Given the description of an element on the screen output the (x, y) to click on. 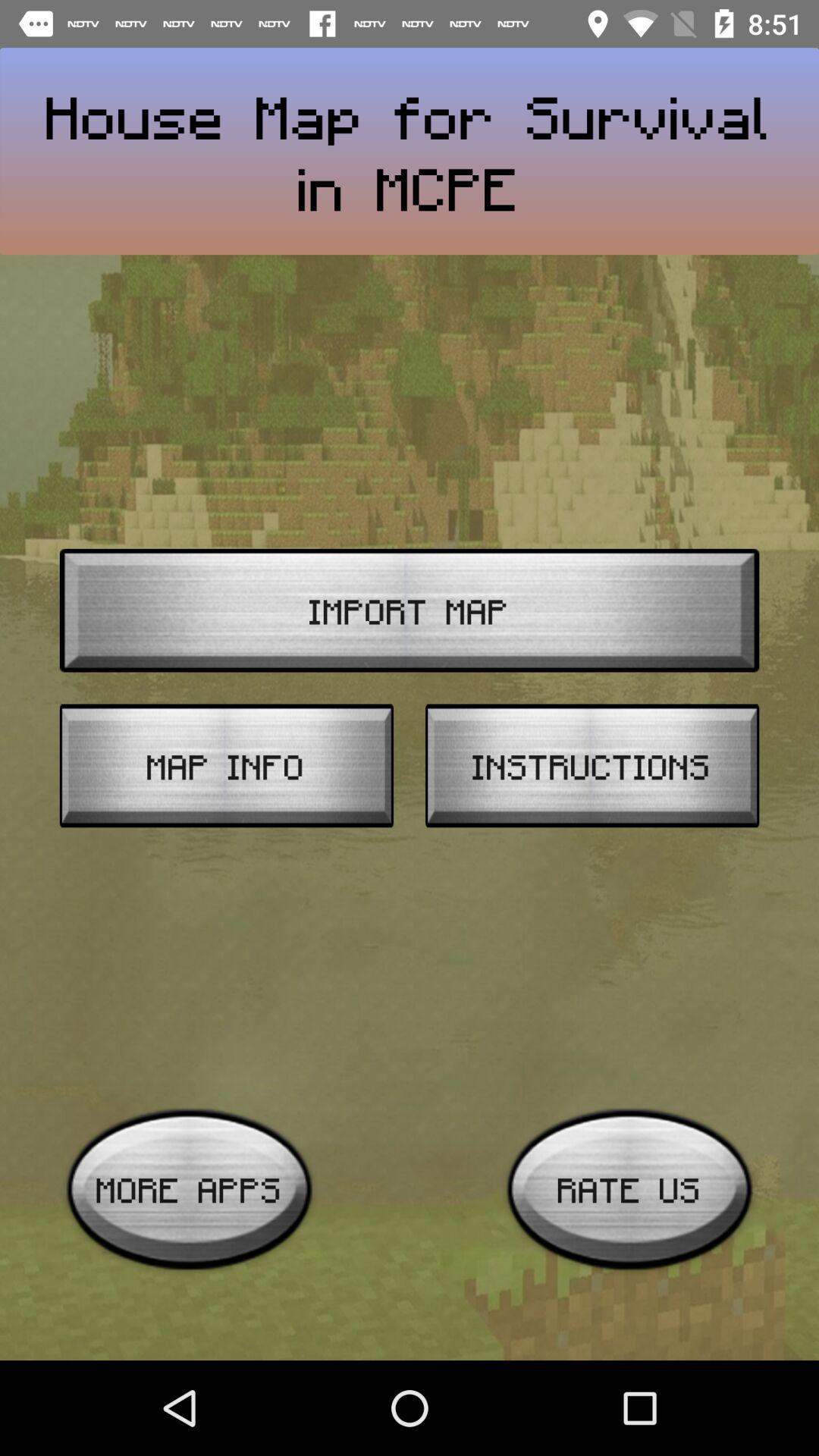
choose the icon next to the map info (592, 765)
